Given the description of an element on the screen output the (x, y) to click on. 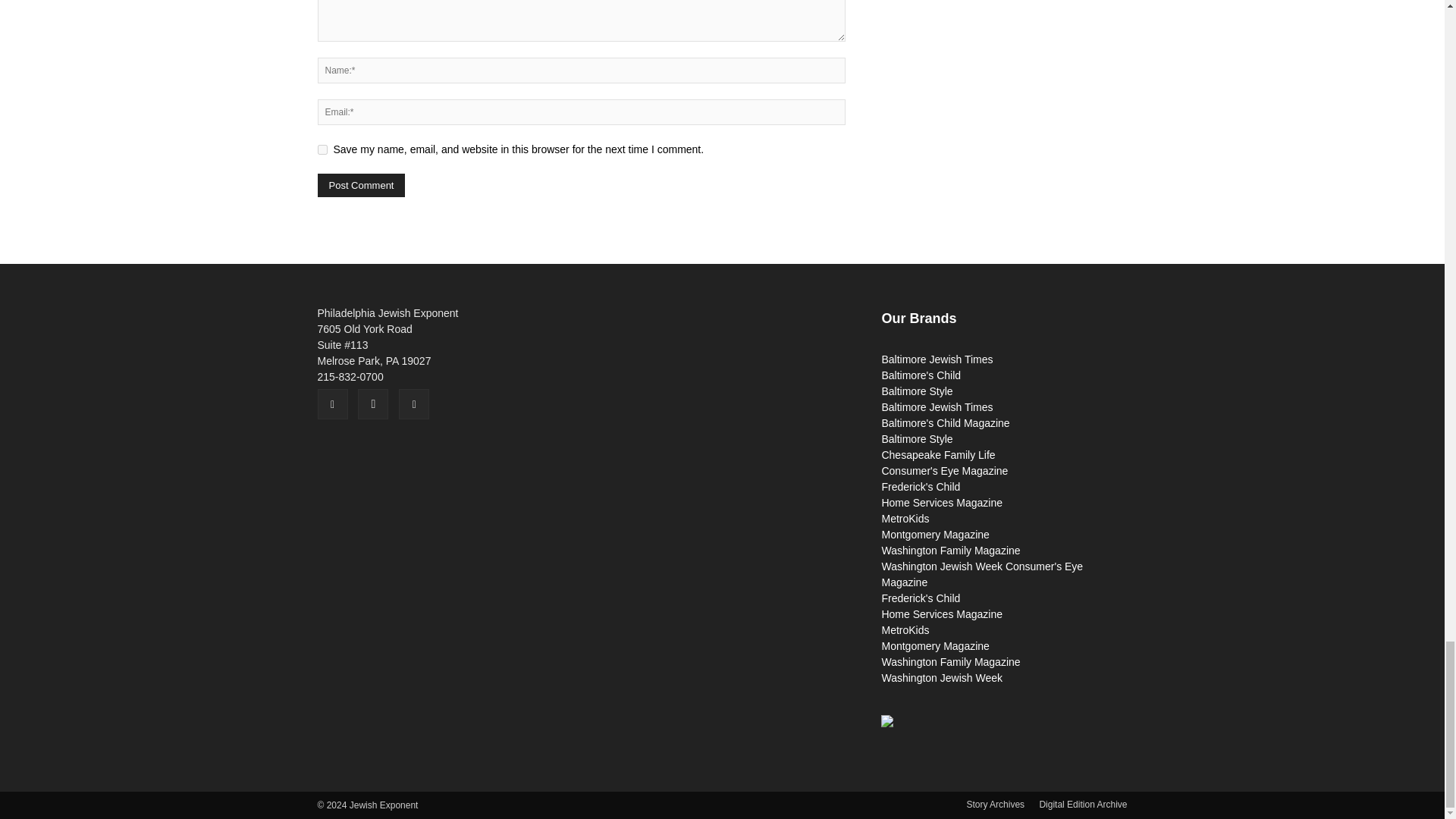
Post Comment (360, 185)
yes (321, 149)
